Given the description of an element on the screen output the (x, y) to click on. 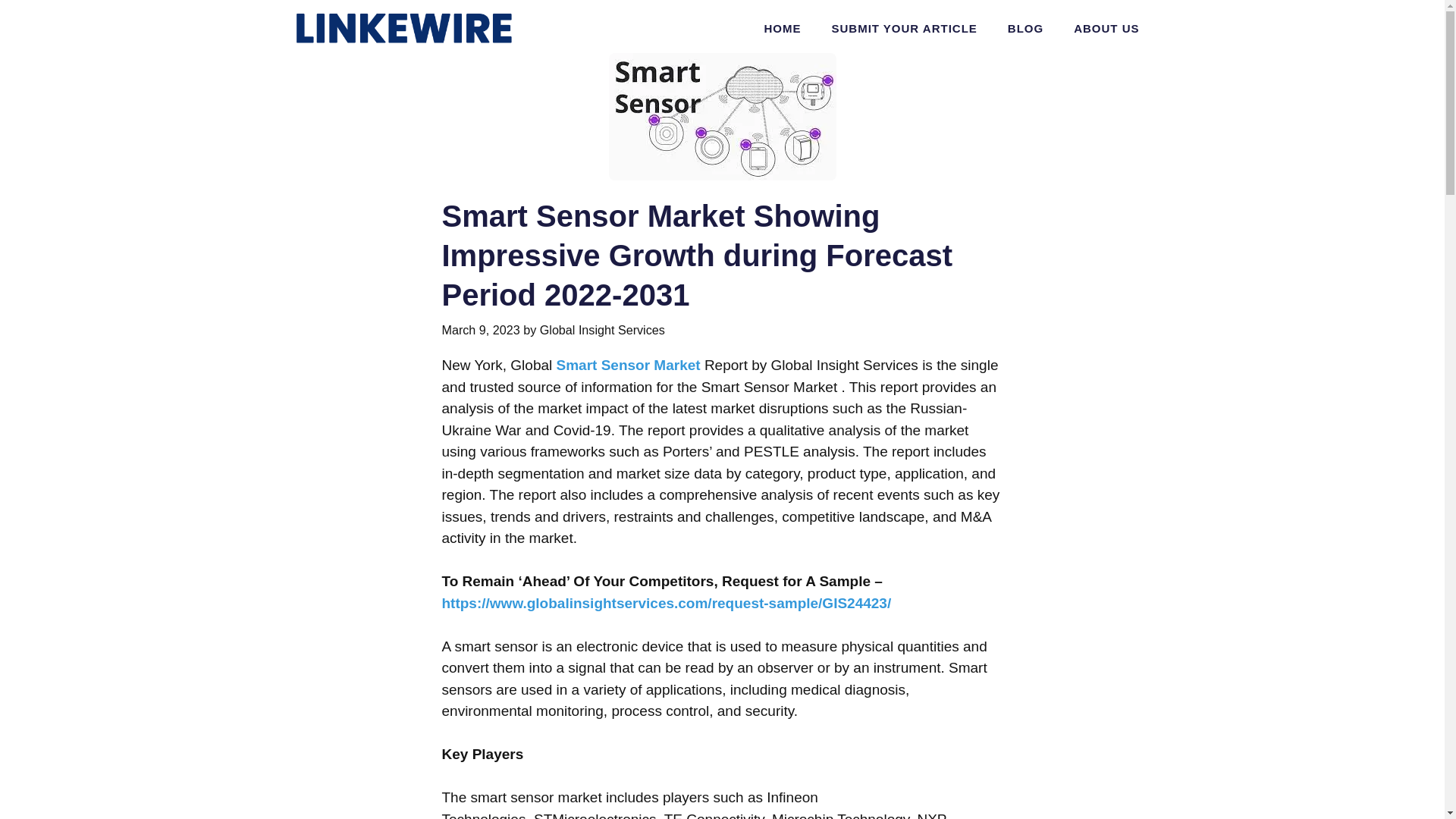
Global Insight Services (602, 329)
ABOUT US (1106, 28)
View all posts by Global Insight Services (602, 329)
Smart Sensor Market  (630, 365)
BLOG (1025, 28)
SUBMIT YOUR ARTICLE (903, 28)
HOME (781, 28)
